Given the description of an element on the screen output the (x, y) to click on. 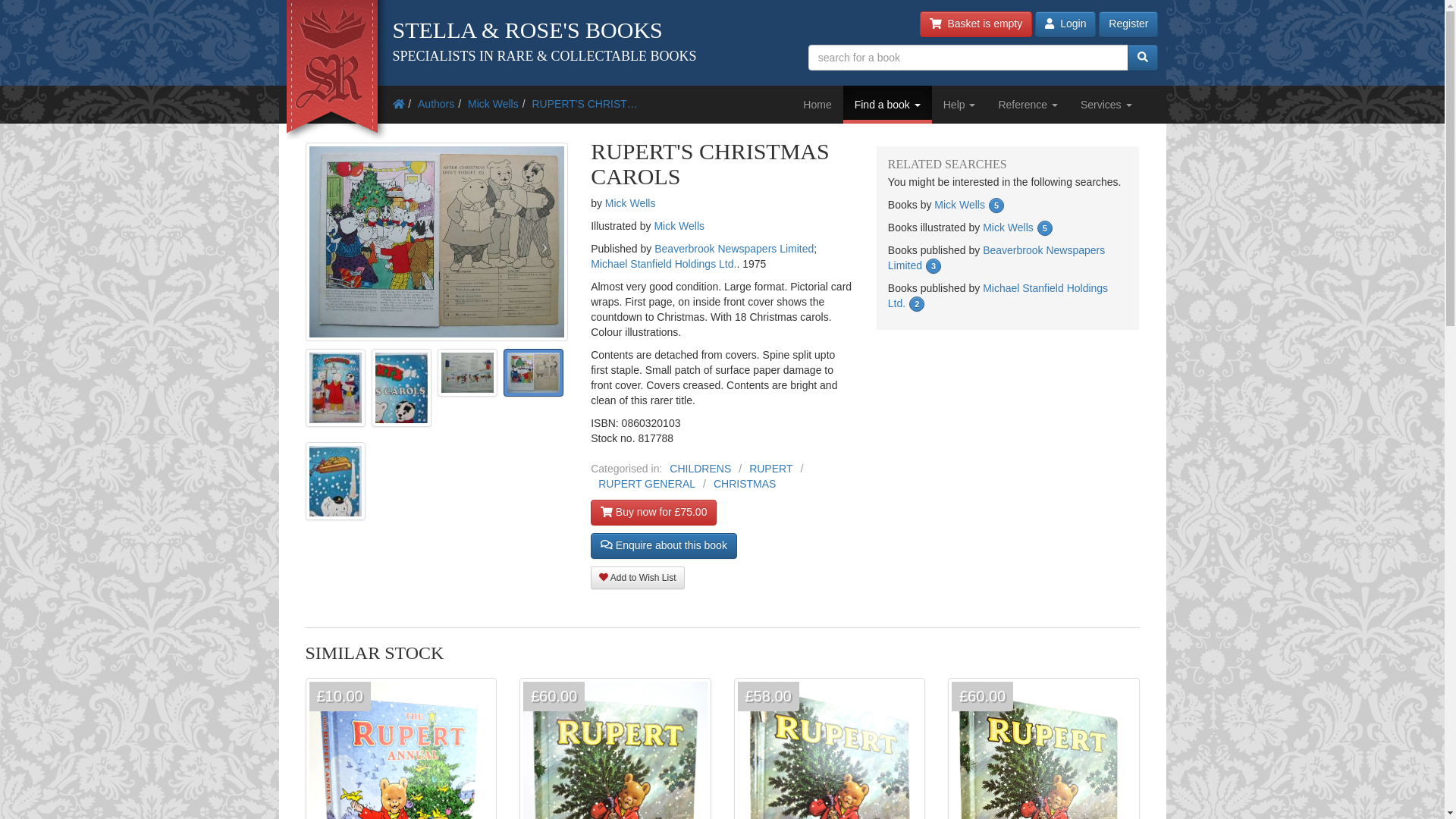
Help (959, 104)
Find a book (887, 104)
  Basket is empty (976, 23)
Register (1128, 23)
Authors (435, 103)
Reference (1027, 104)
Mick Wells (492, 103)
RUPERT'S CHRISTMAS CAROLS (584, 103)
Home (817, 104)
Authors (435, 103)
Mick Wells (492, 103)
  Login (1065, 23)
Services (1105, 104)
